Given the description of an element on the screen output the (x, y) to click on. 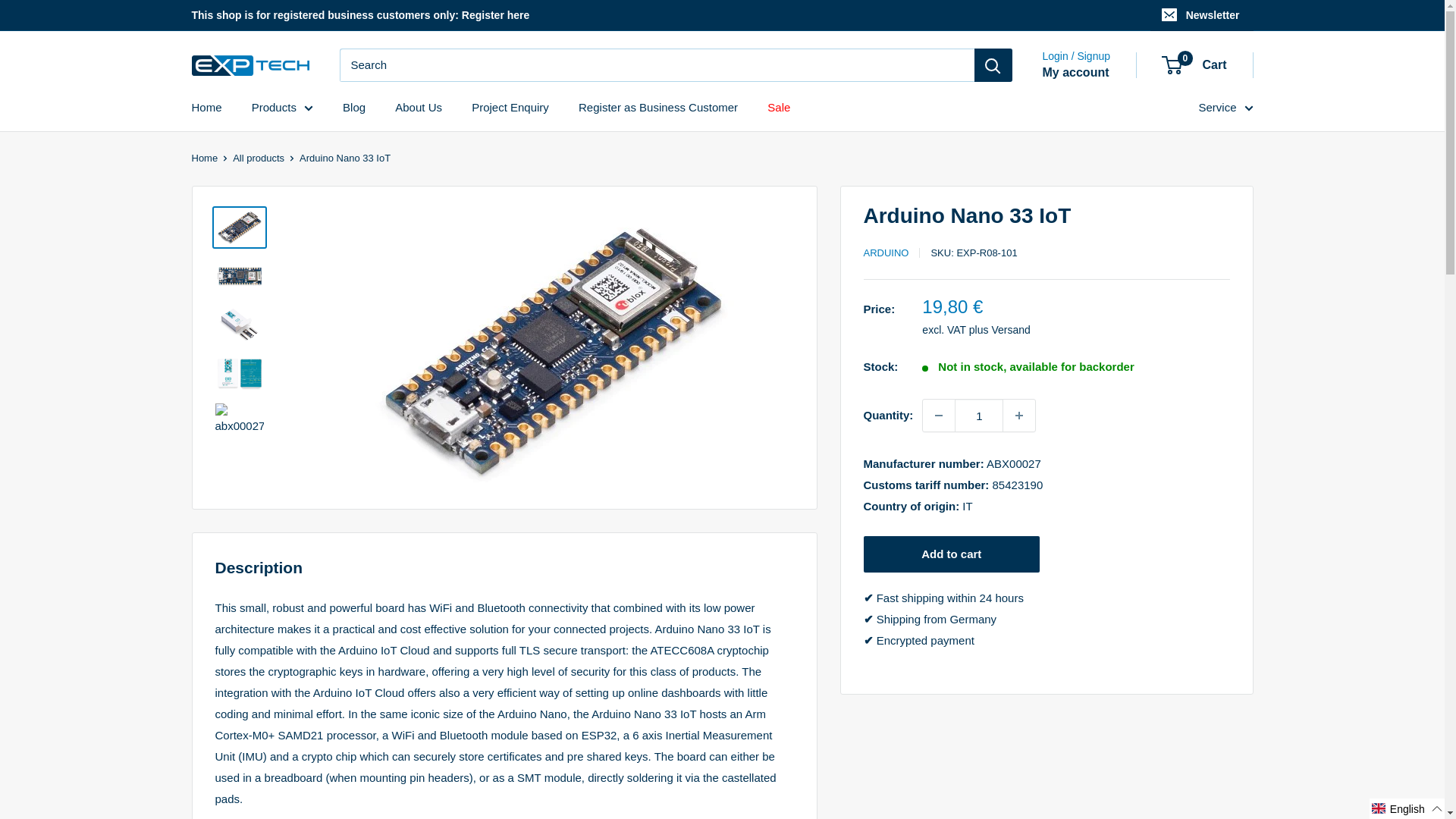
Newsletter (1201, 15)
Decrease quantity by 1 (939, 415)
Increase quantity by 1 (1019, 415)
1 (979, 415)
